Given the description of an element on the screen output the (x, y) to click on. 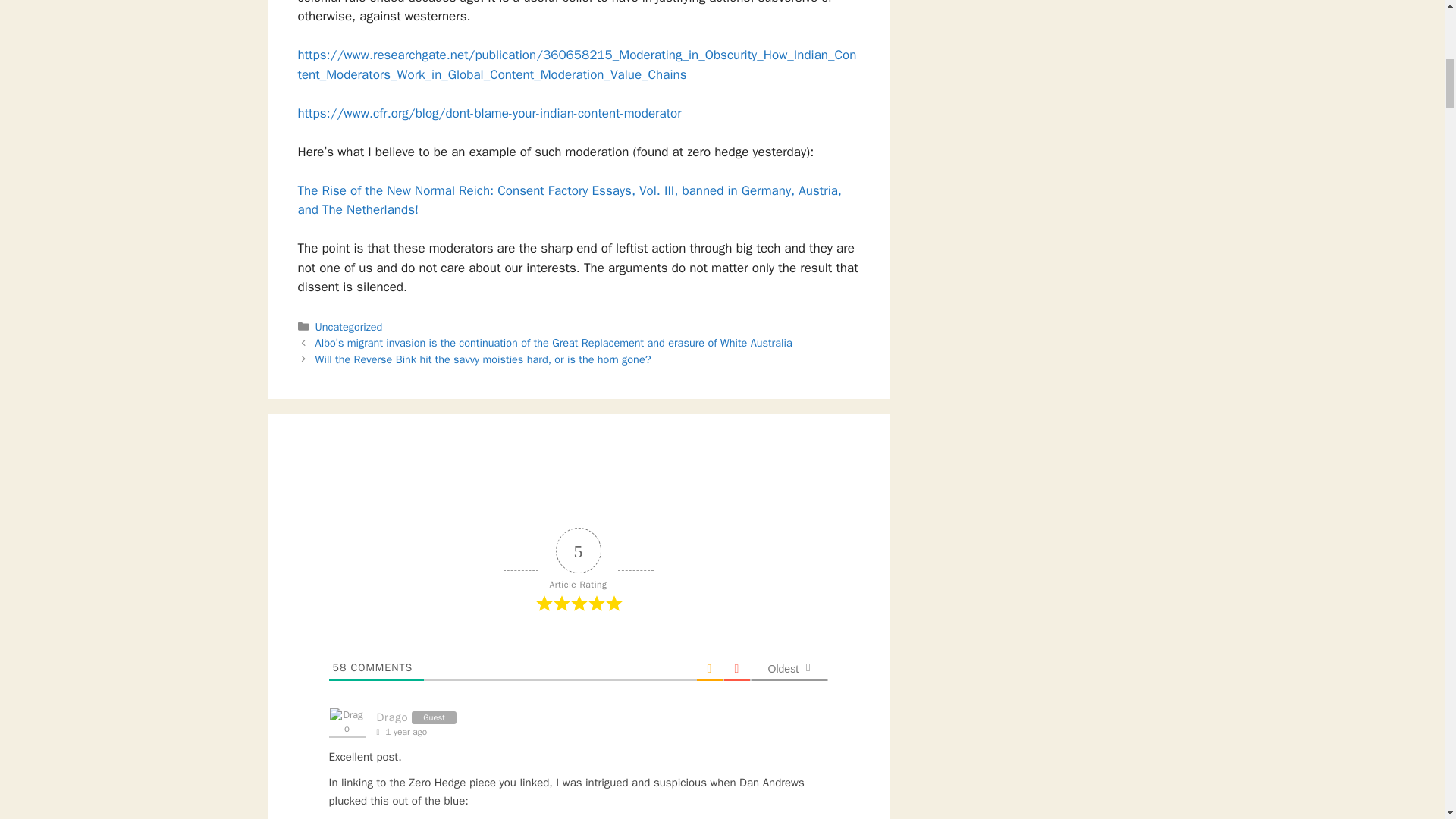
Uncategorized (348, 326)
September 3, 2022 12:35 pm (404, 731)
58 (338, 667)
